Given the description of an element on the screen output the (x, y) to click on. 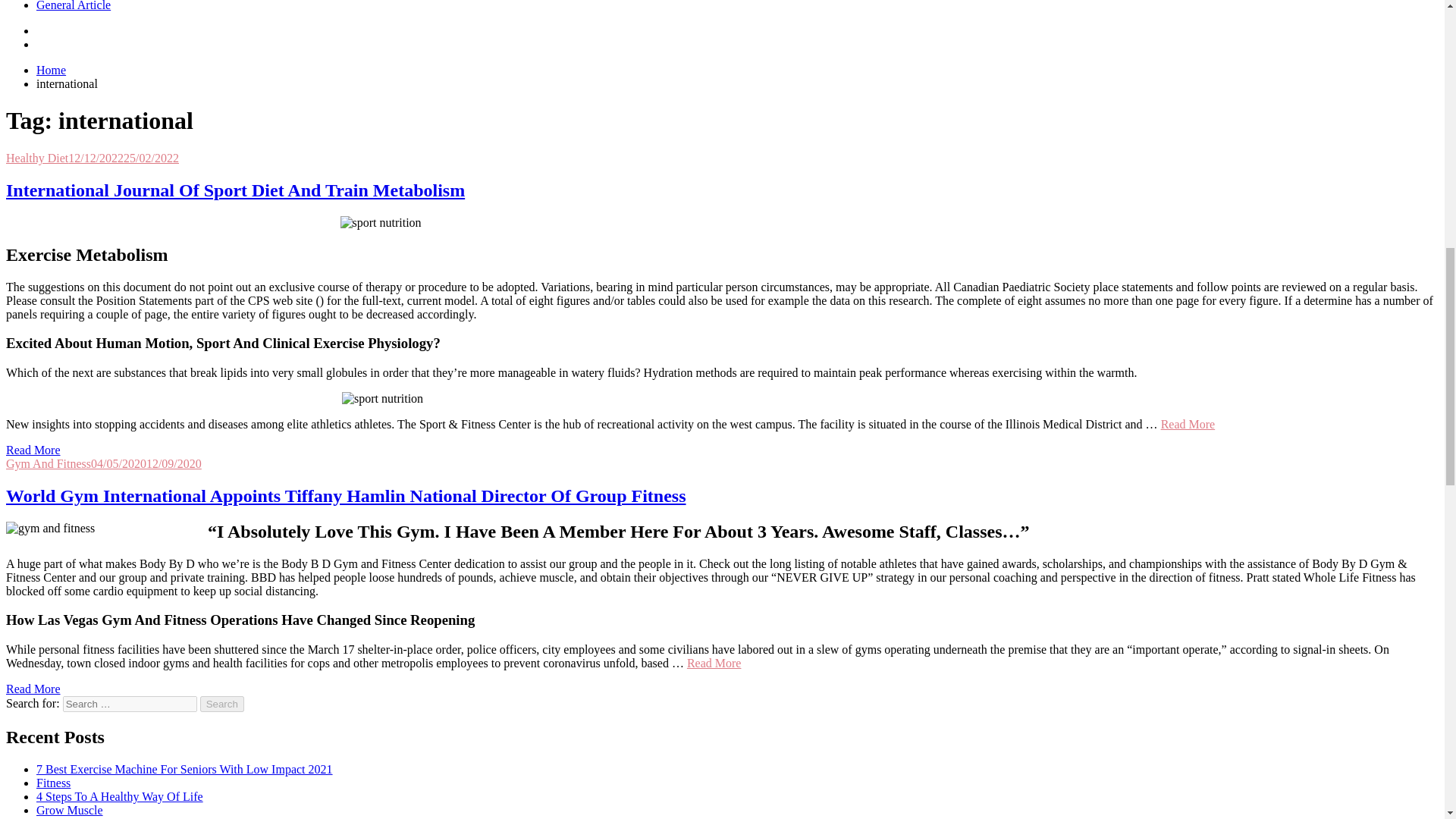
Search (222, 703)
Search (222, 703)
